Given the description of an element on the screen output the (x, y) to click on. 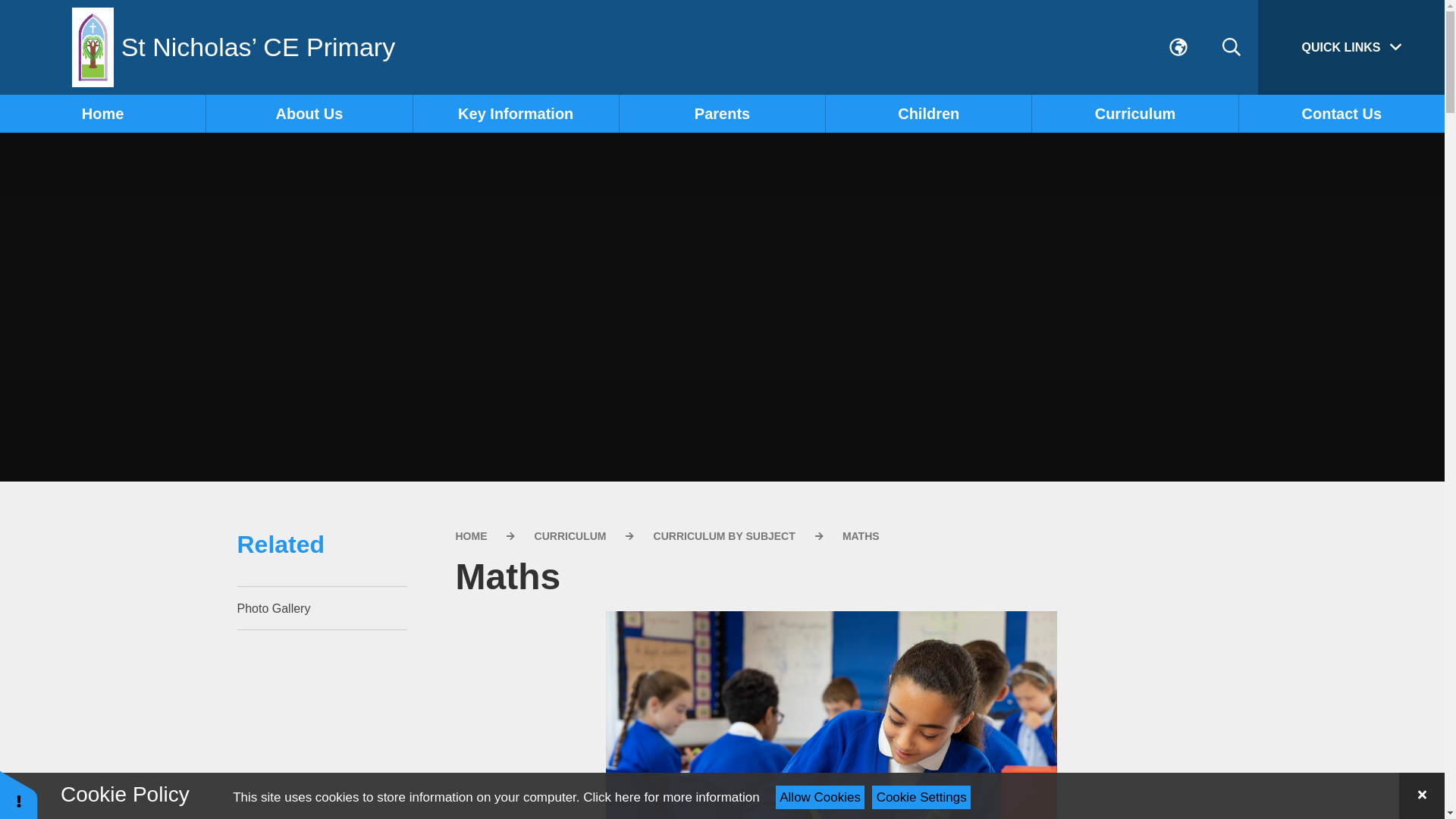
Key Information (515, 113)
St. Nicholas Church (309, 269)
Home (102, 113)
Contact Us (309, 330)
School Partnerships (309, 300)
Admissions (515, 147)
The Willow Club (309, 208)
Who's Who (309, 177)
Headteacher's Welcome (102, 147)
Policies (515, 177)
Vision and Values (309, 147)
Collective Worship (309, 239)
Keeping Children Safe (515, 208)
About Us (309, 113)
